Given the description of an element on the screen output the (x, y) to click on. 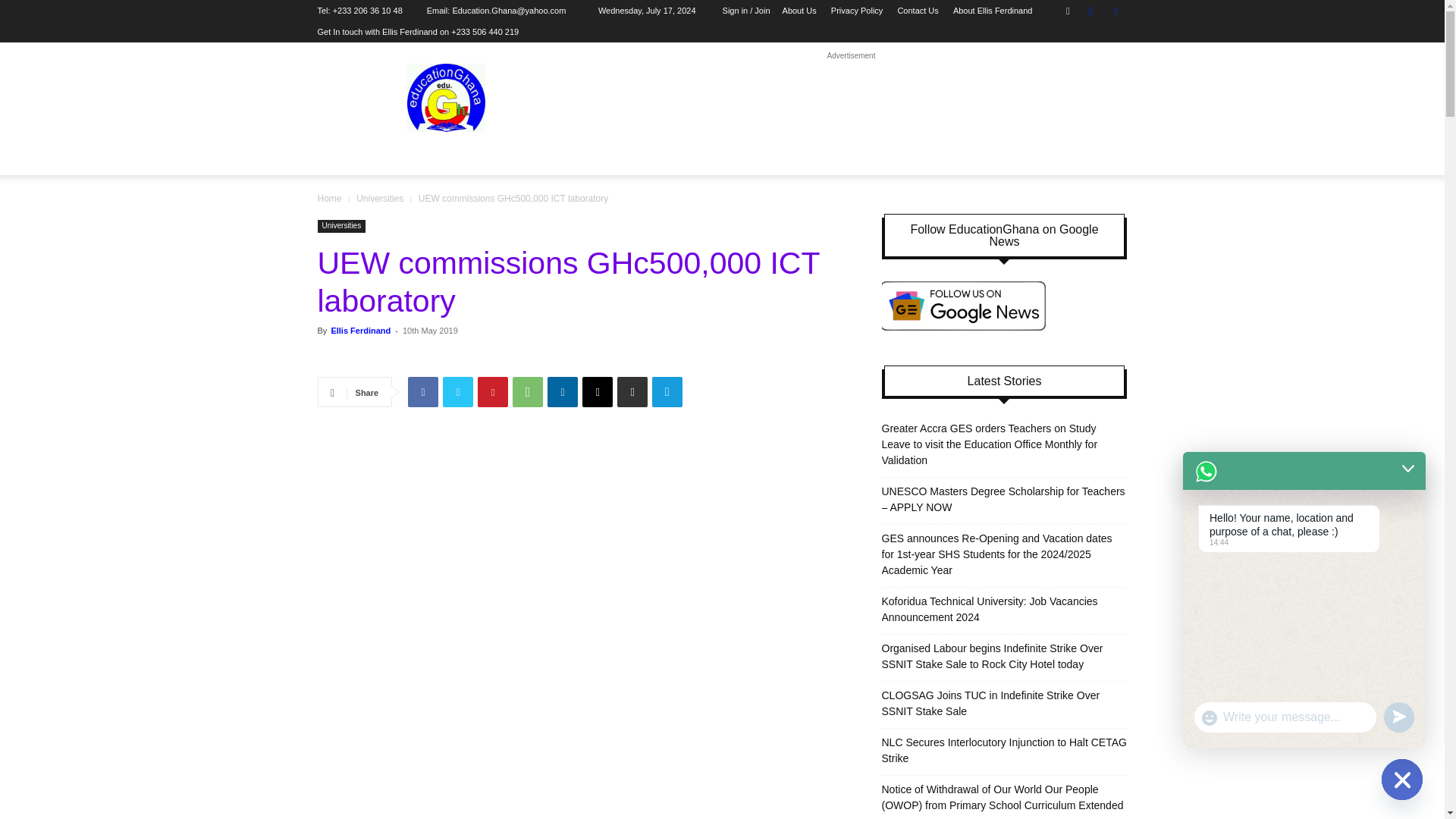
Facebook (422, 391)
View all posts in Universities (379, 198)
Linkedin (562, 391)
topFacebookLike (430, 358)
WhatsApp (527, 391)
Twitter (1114, 10)
Twitter (457, 391)
Advertisement (850, 97)
Pinterest (492, 391)
Instagram (1090, 10)
